Given the description of an element on the screen output the (x, y) to click on. 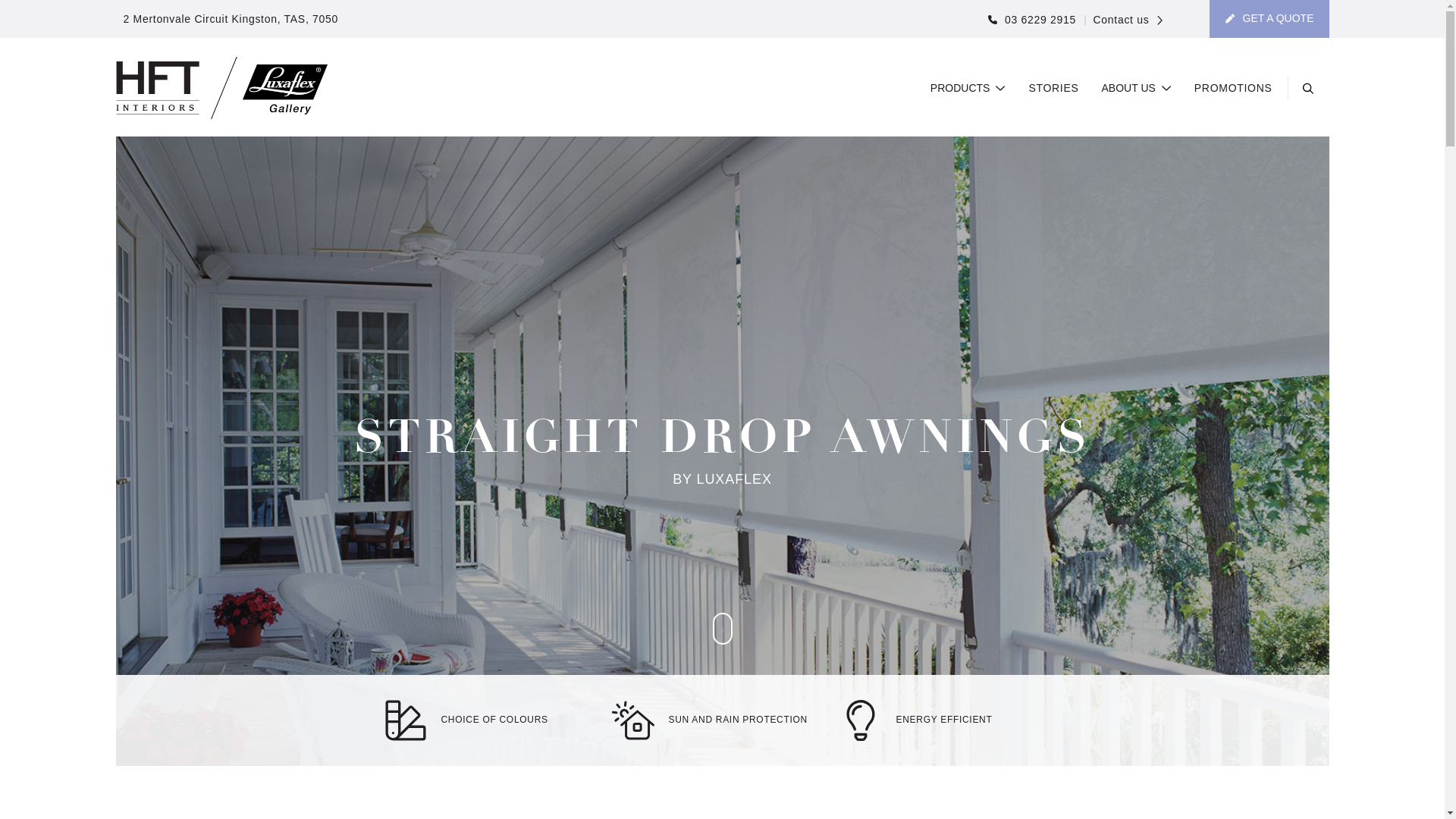
PROMOTIONS Element type: text (1233, 88)
PRODUCTS Element type: text (968, 88)
Contact us Element type: text (1123, 20)
03 6229 2915 Element type: text (1032, 20)
GET A QUOTE Element type: text (1269, 18)
Scroll to content Element type: text (722, 628)
STORIES Element type: text (1053, 88)
ABOUT US Element type: text (1136, 88)
